Given the description of an element on the screen output the (x, y) to click on. 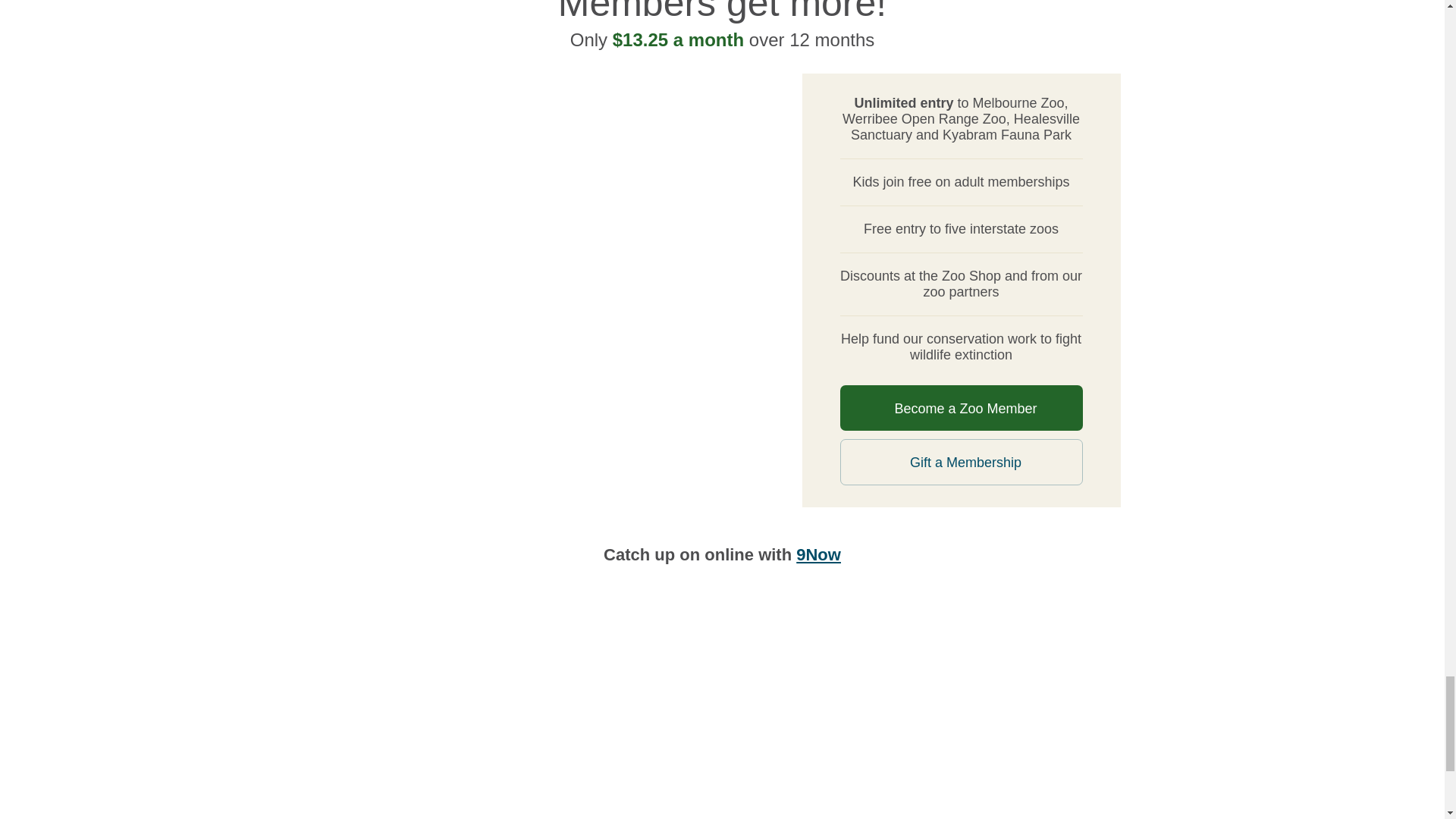
YouTube video player (536, 719)
9Now (818, 554)
Gift a Membership (961, 461)
Become a Zoo Member (961, 407)
